Given the description of an element on the screen output the (x, y) to click on. 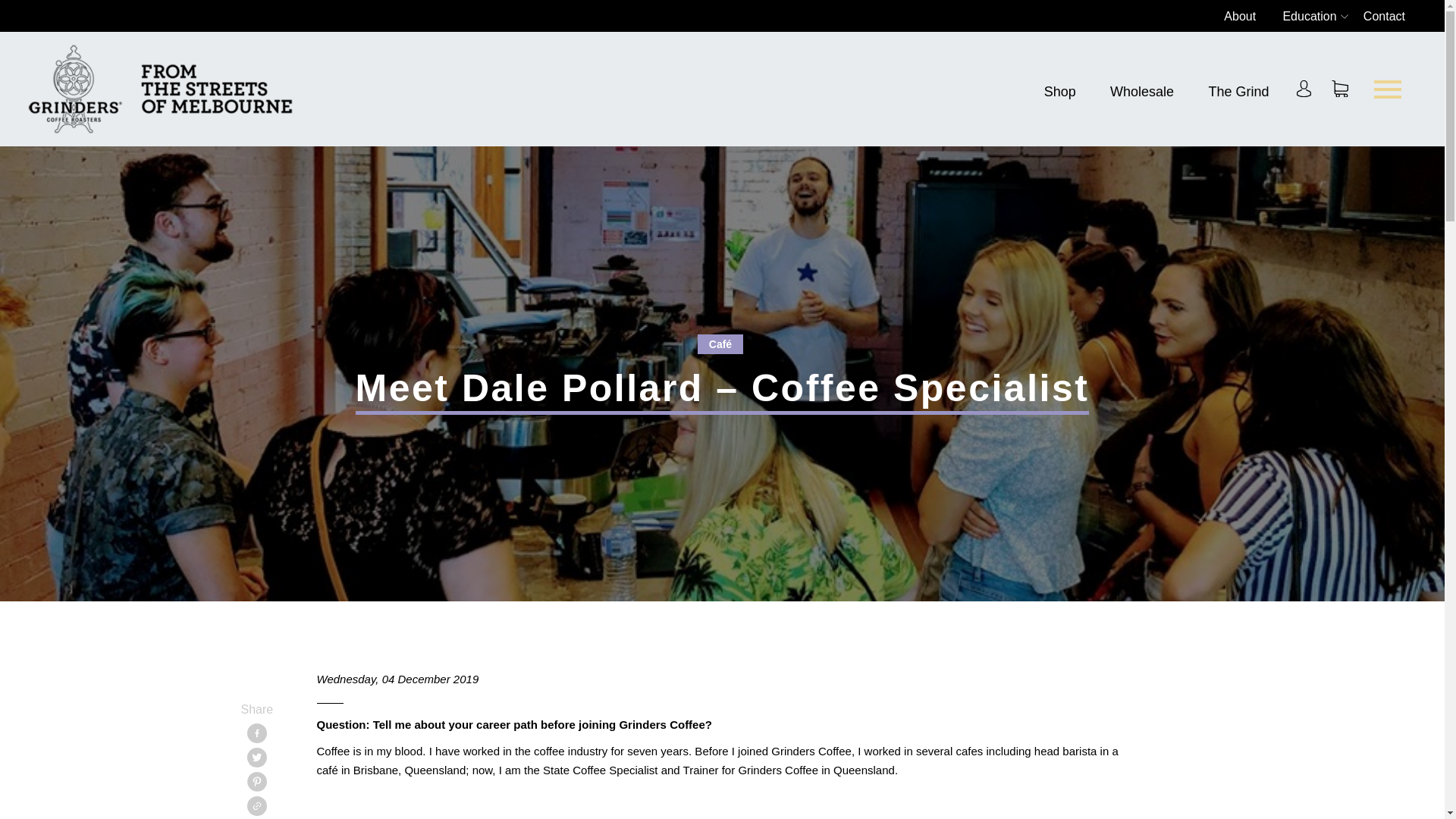
Primary Menu (1387, 87)
MY ACCOUNT (1304, 88)
Cart (1340, 88)
Shop (1059, 90)
Wholesale (1141, 90)
Contact (1383, 15)
The Grind (1238, 90)
Education (1309, 15)
About (1239, 15)
